Given the description of an element on the screen output the (x, y) to click on. 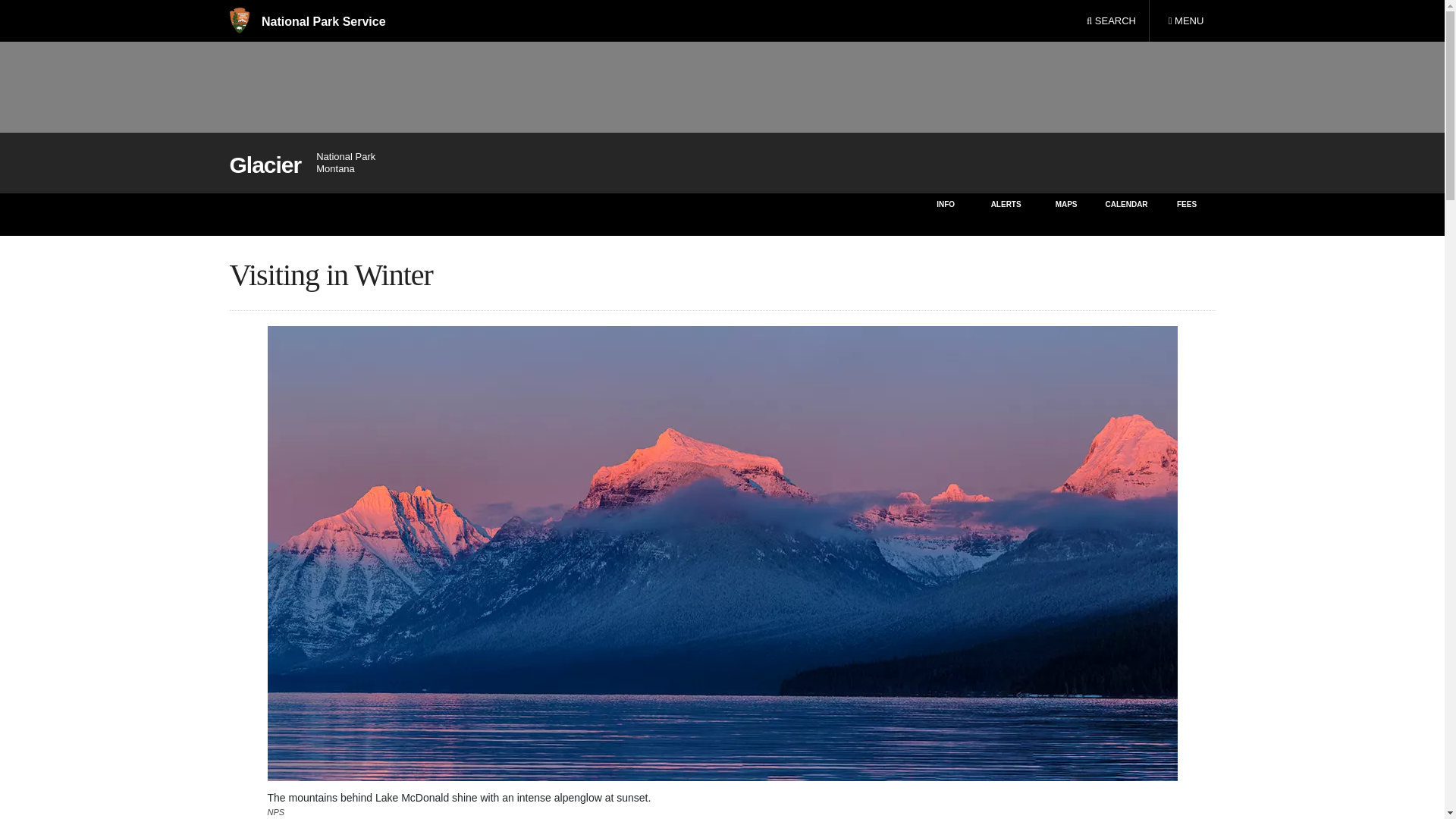
FEES (1186, 214)
SEARCH (1111, 20)
CALENDAR (1125, 214)
ALERTS (1004, 214)
INFO (945, 214)
Glacier (264, 164)
MAPS (1066, 214)
National Park Service (307, 20)
